Given the description of an element on the screen output the (x, y) to click on. 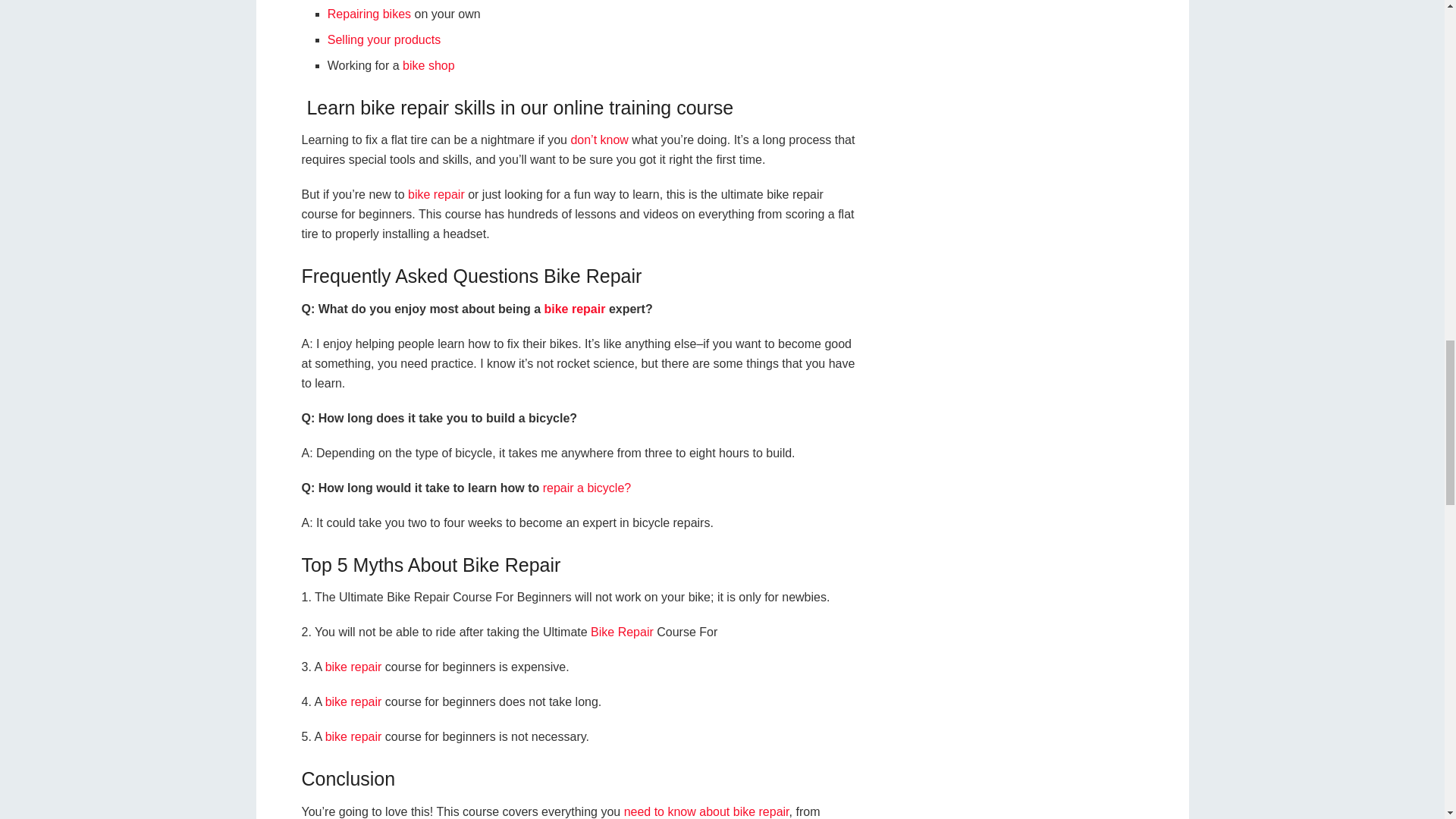
How to Build a Bike Shop Website in Just 3 Minutes (428, 65)
Bike repair shop grand starting (368, 13)
